Given the description of an element on the screen output the (x, y) to click on. 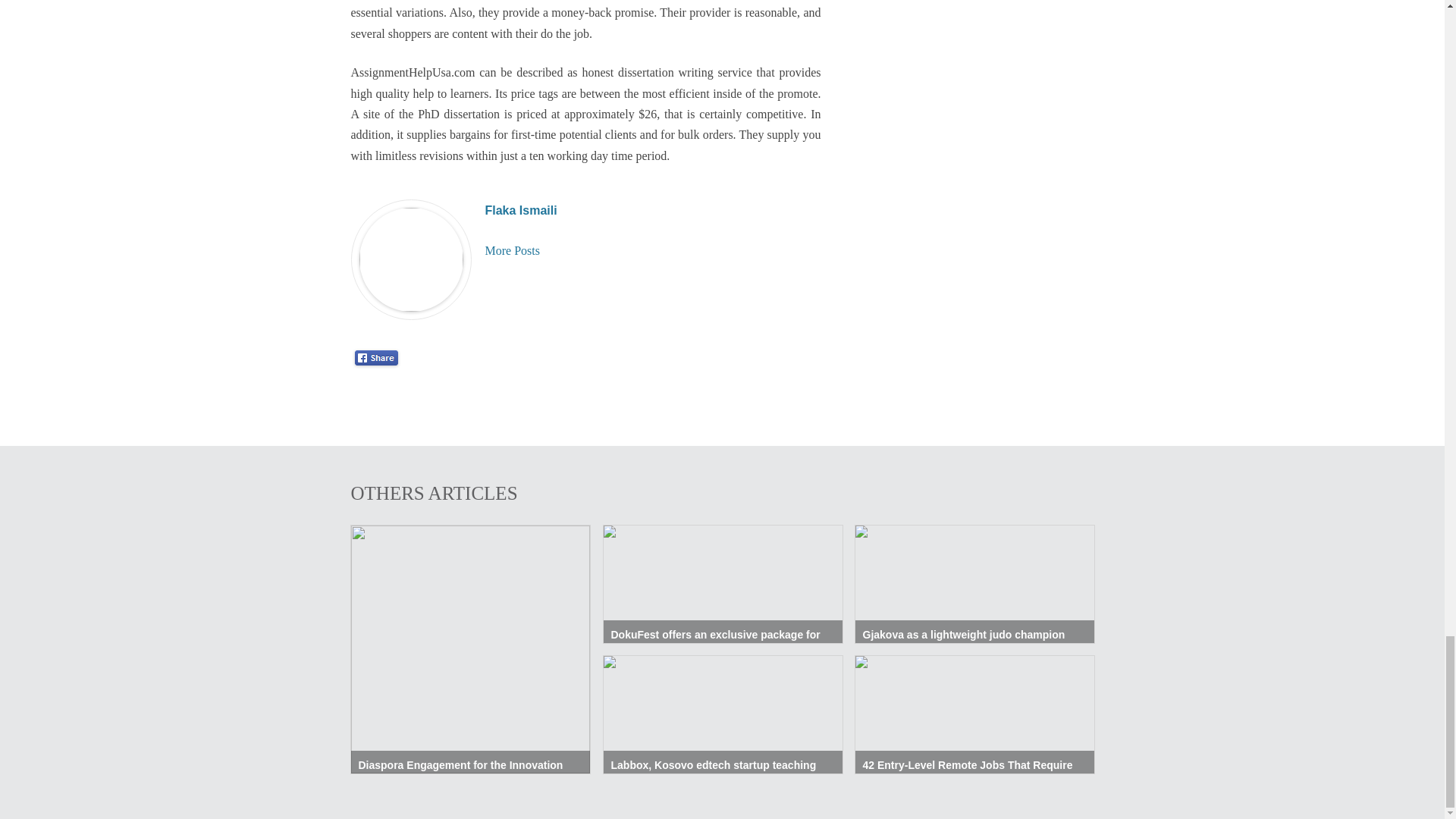
More posts by Flaka Ismaili (512, 250)
Flaka Ismaili (520, 210)
More Posts (512, 250)
Flaka Ismaili (520, 210)
